Given the description of an element on the screen output the (x, y) to click on. 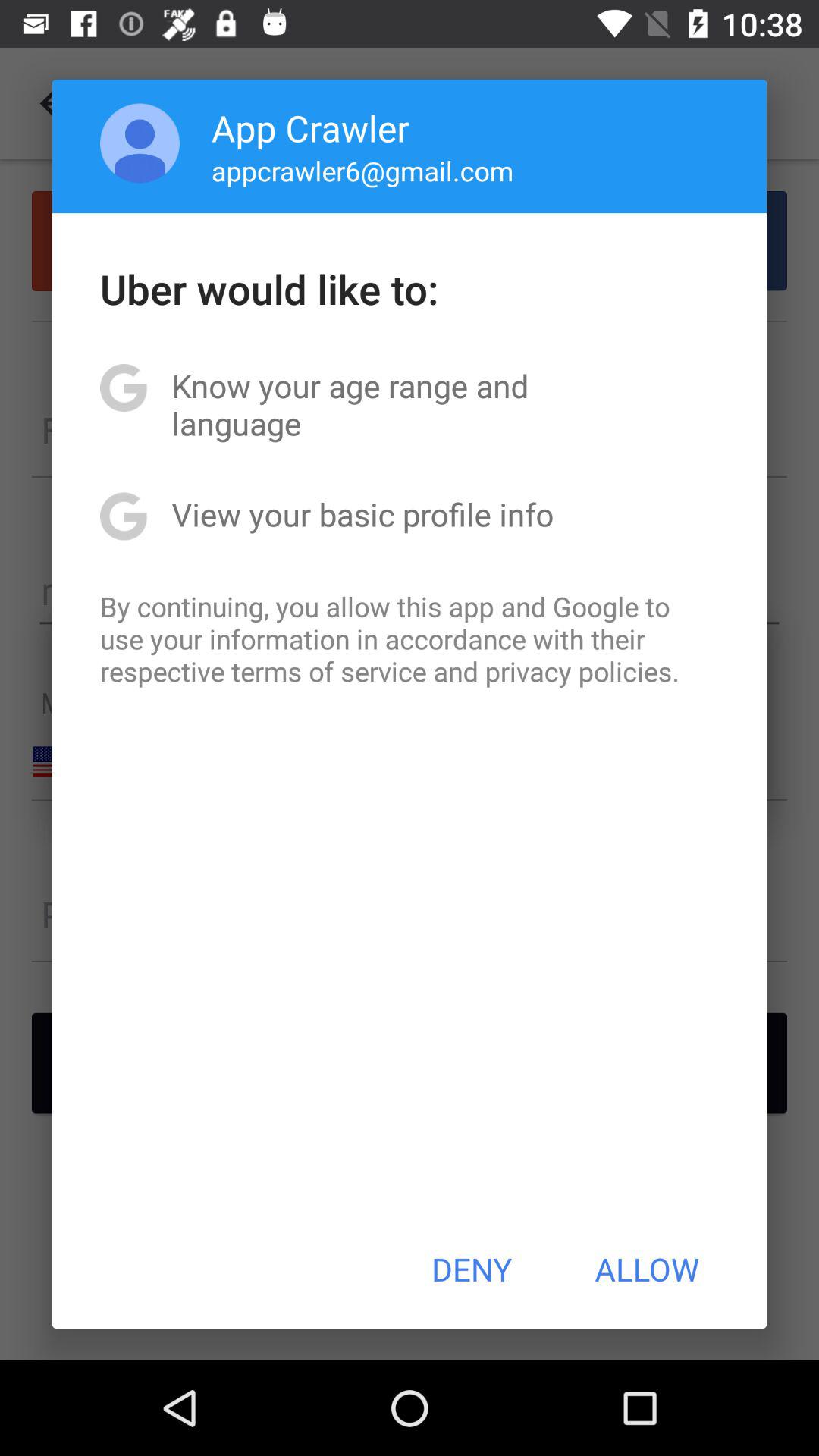
tap the button to the left of the allow item (471, 1268)
